Given the description of an element on the screen output the (x, y) to click on. 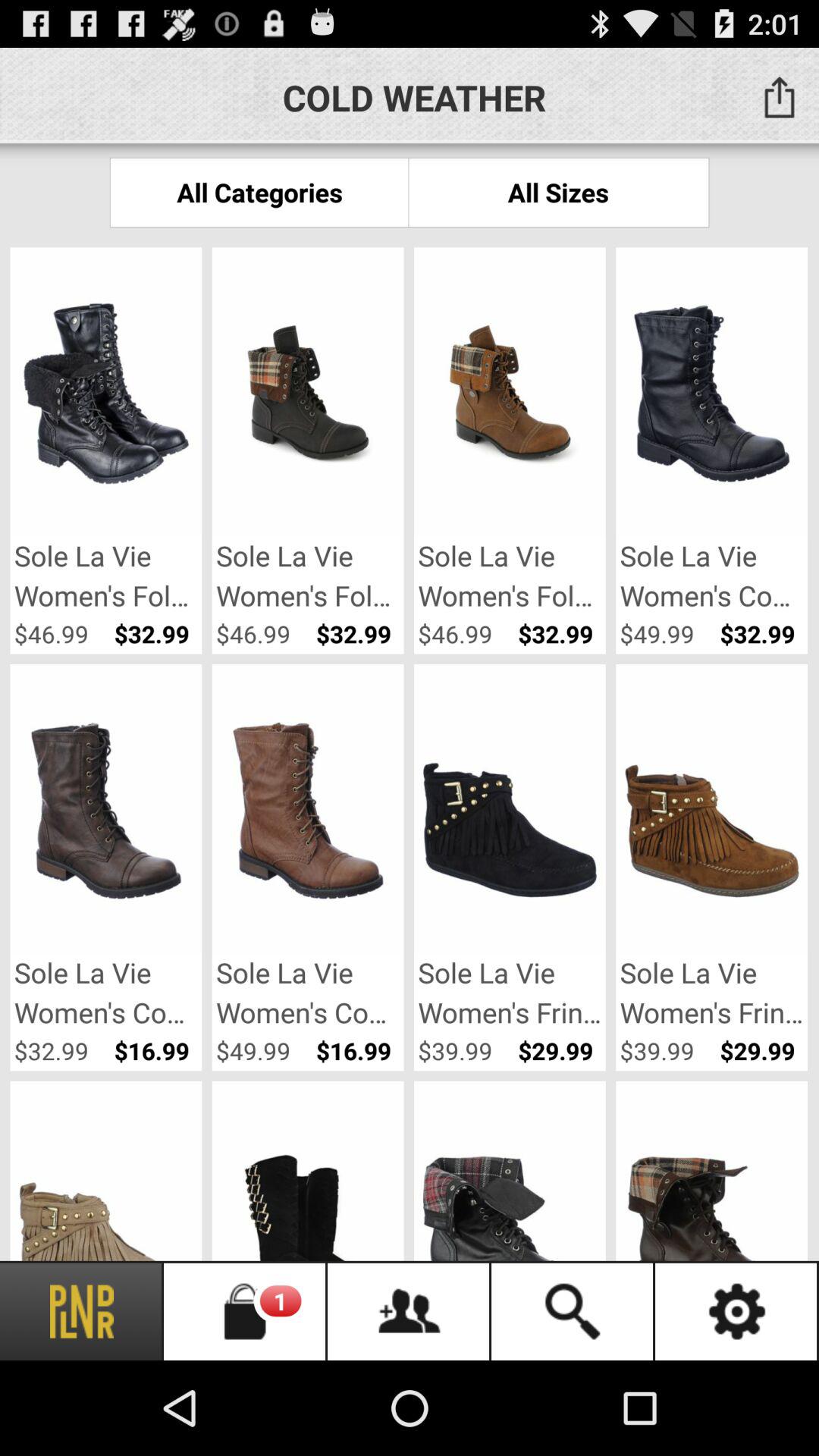
turn off app to the left of the all sizes app (259, 192)
